Given the description of an element on the screen output the (x, y) to click on. 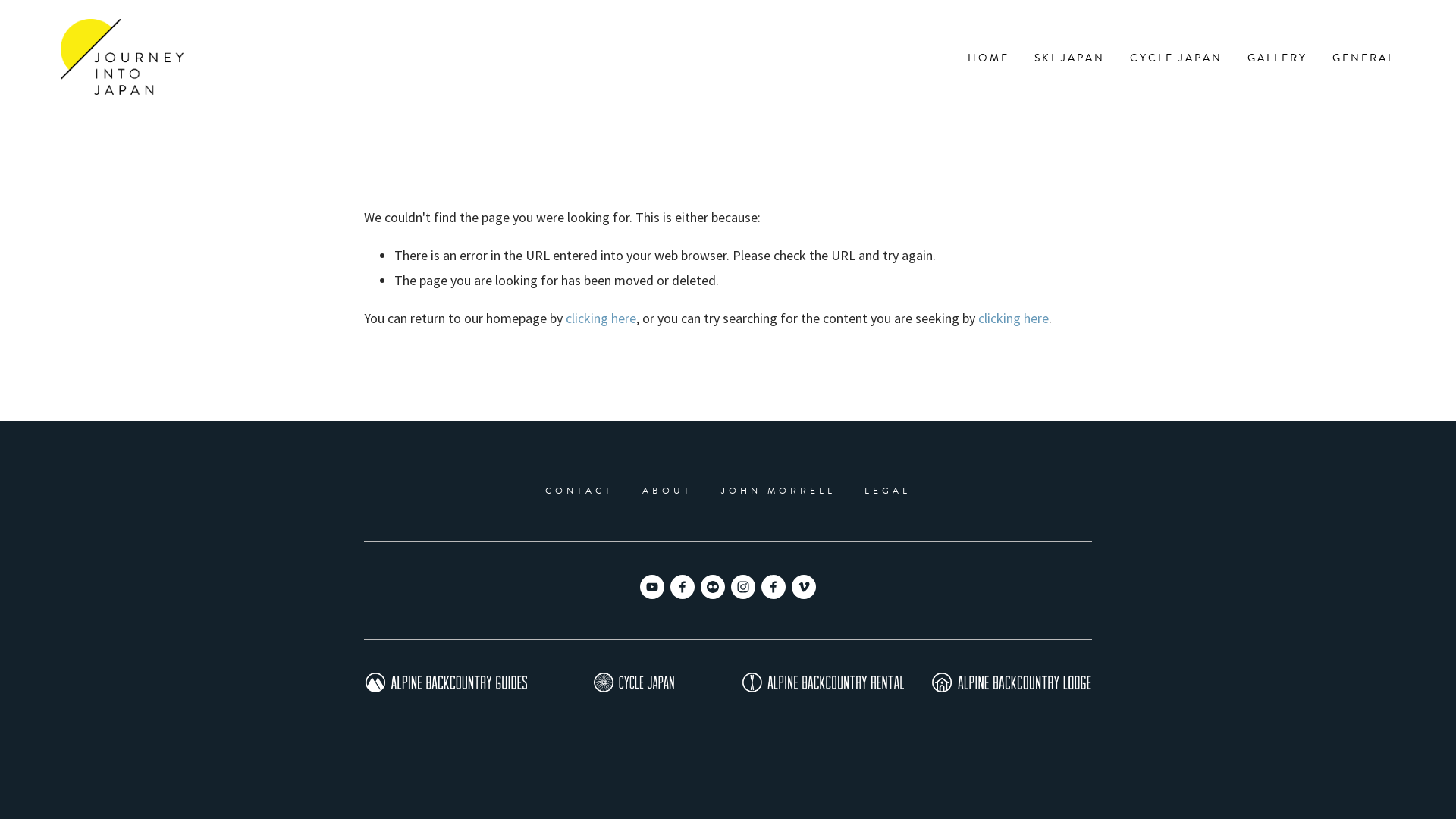
LEGAL Element type: text (887, 490)
HOME Element type: text (988, 56)
SKI JAPAN Element type: text (1069, 56)
GALLERY Element type: text (1277, 56)
CONTACT Element type: text (579, 490)
GENERAL Element type: text (1363, 56)
ABOUT Element type: text (667, 490)
CYCLE JAPAN Element type: text (1175, 56)
clicking here Element type: text (1013, 317)
clicking here Element type: text (600, 317)
JOHN MORRELL Element type: text (778, 490)
